Given the description of an element on the screen output the (x, y) to click on. 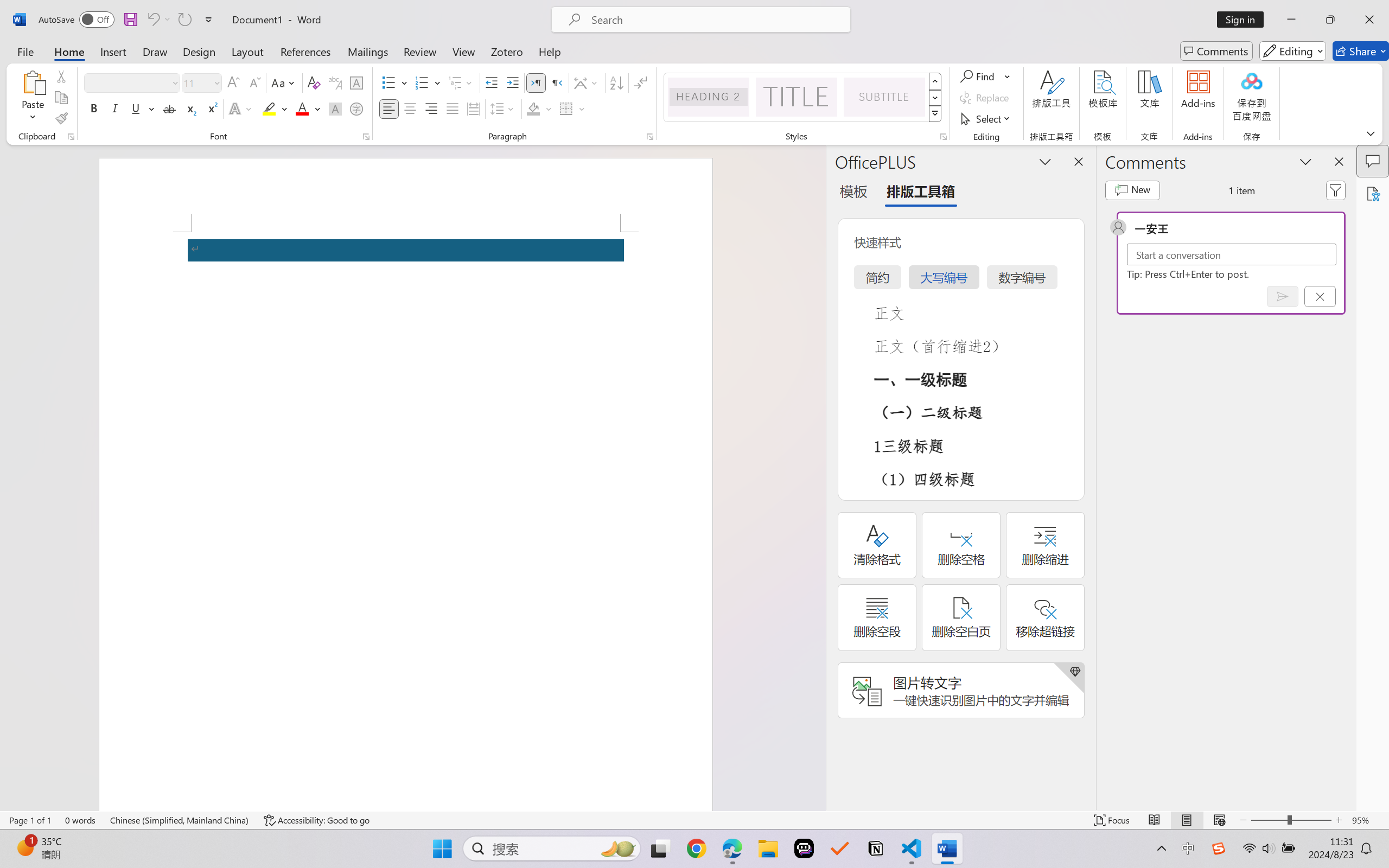
Left-to-Right (535, 82)
Undo Apply Quick Style Set (152, 19)
